Given the description of an element on the screen output the (x, y) to click on. 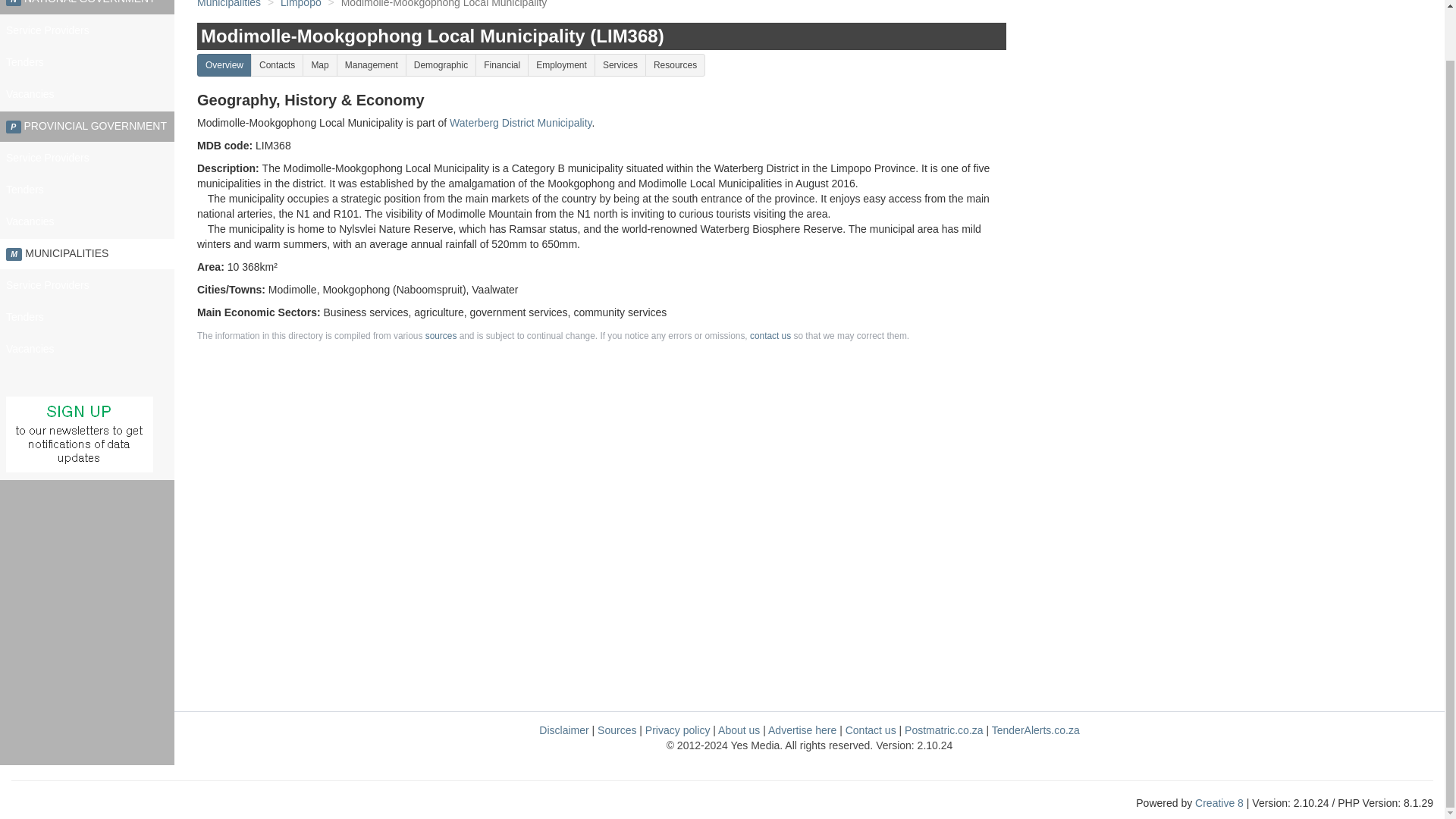
Vacancies (87, 349)
Privacy policy (677, 729)
Employment (561, 65)
P PROVINCIAL GOVERNMENT (87, 126)
contact us (769, 335)
Municipalities (228, 5)
Management (371, 65)
Vacancies (87, 222)
Financial (502, 65)
M MUNICIPALITIES (87, 254)
Newsletter sign up (78, 434)
Overview (223, 65)
Service Providers (87, 286)
Resources (674, 65)
Creative 8 (1219, 802)
